Given the description of an element on the screen output the (x, y) to click on. 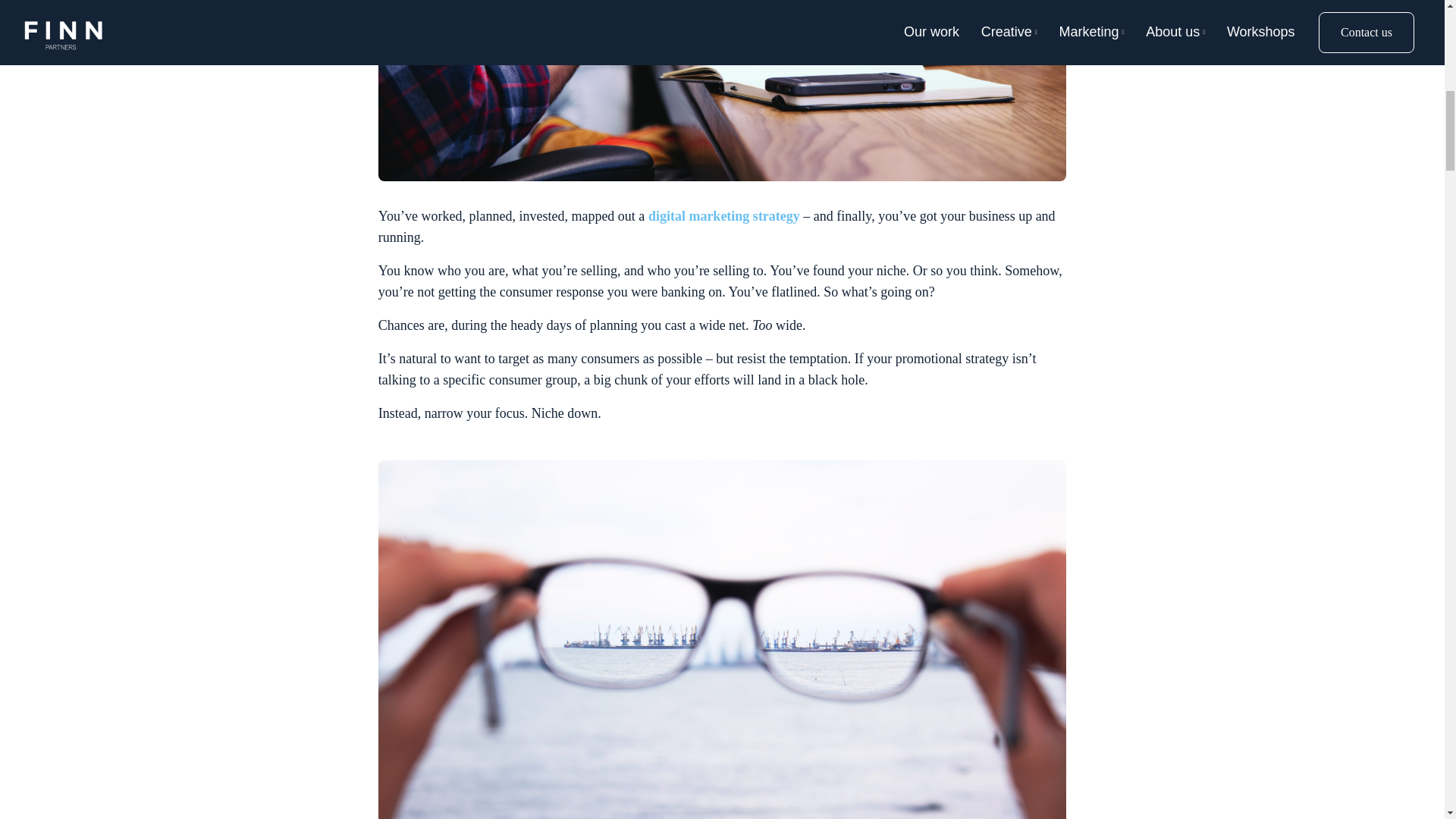
digital marketing strategy (723, 215)
